Given the description of an element on the screen output the (x, y) to click on. 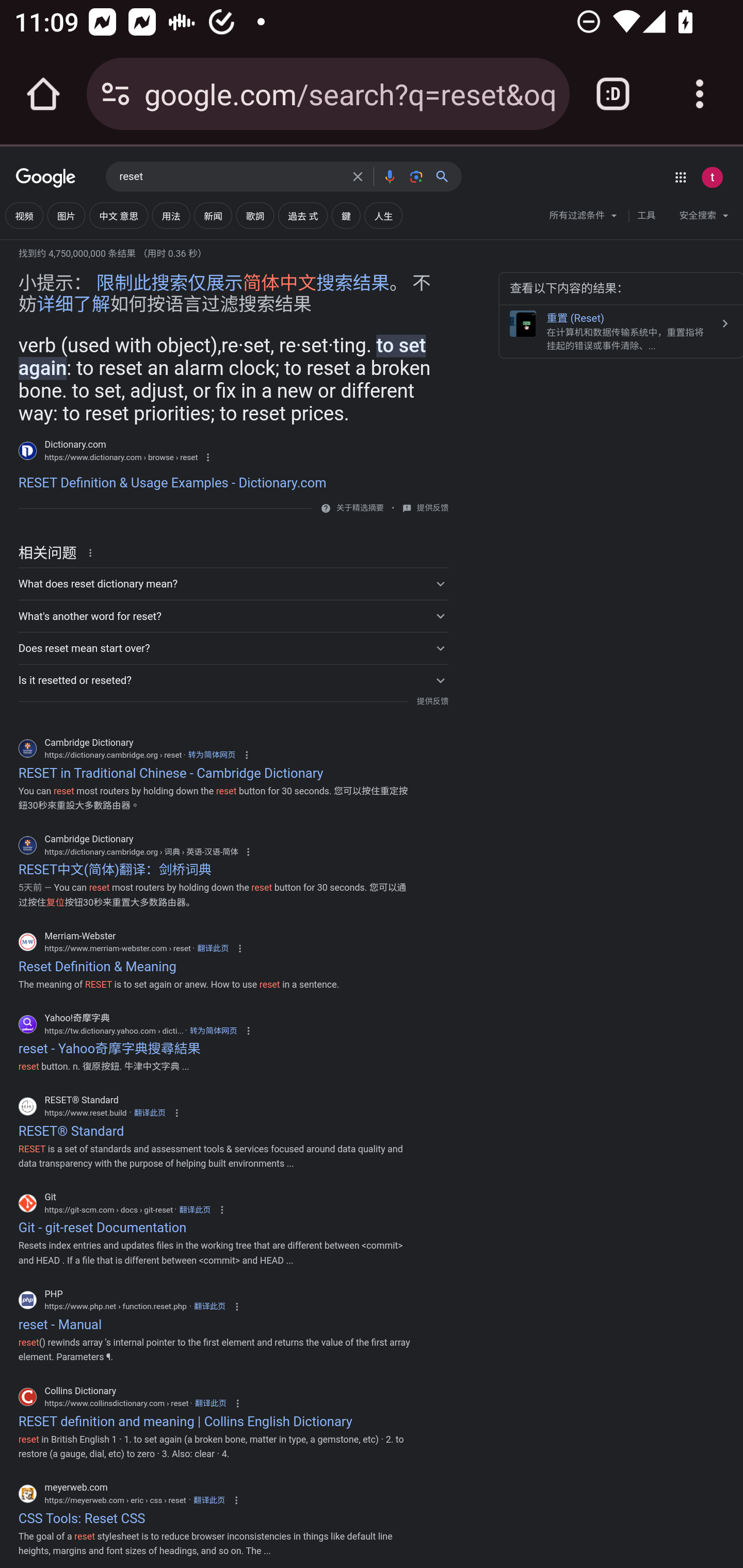
Open the home page (43, 93)
Connection is secure (115, 93)
Switch or close tabs (612, 93)
Customize and control Google Chrome (699, 93)
清除 (357, 176)
按语音搜索 (389, 176)
按图搜索 (415, 176)
搜索 (446, 176)
Google 应用 (680, 176)
Google 账号： test appium (testappium002@gmail.com) (712, 176)
Google (45, 178)
reset (229, 177)
视频 (24, 215)
图片 (65, 215)
添加“中文 意思” 中文 意思 (117, 215)
添加“用法” 用法 (170, 215)
新闻 (212, 215)
添加“歌詞” 歌詞 (254, 215)
添加“過去 式” 過去 式 (302, 215)
添加“鍵” 鍵 (345, 215)
添加“人生” 人生 (383, 215)
所有过滤条件 (583, 217)
工具 (646, 215)
安全搜索 (703, 217)
限制此搜索仅展示简体中文搜索结果 限制此搜索仅展示 简体中文 搜索结果 (242, 283)
详细了解 (73, 304)
关于精选摘要 (359, 507)
提供反馈 (432, 508)
关于这条结果的详细信息 (93, 552)
What does reset dictionary mean? (232, 583)
What's another word for reset? (232, 615)
Does reset mean start over? (232, 647)
Is it resetted or reseted? (232, 679)
提供反馈 (432, 700)
转为简体网页 (211, 754)
翻译此页 (212, 948)
转为简体网页 (212, 1029)
翻译此页 (149, 1113)
翻译此页 (194, 1209)
翻译此页 (209, 1306)
翻译此页 (210, 1403)
翻译此页 (209, 1500)
